Given the description of an element on the screen output the (x, y) to click on. 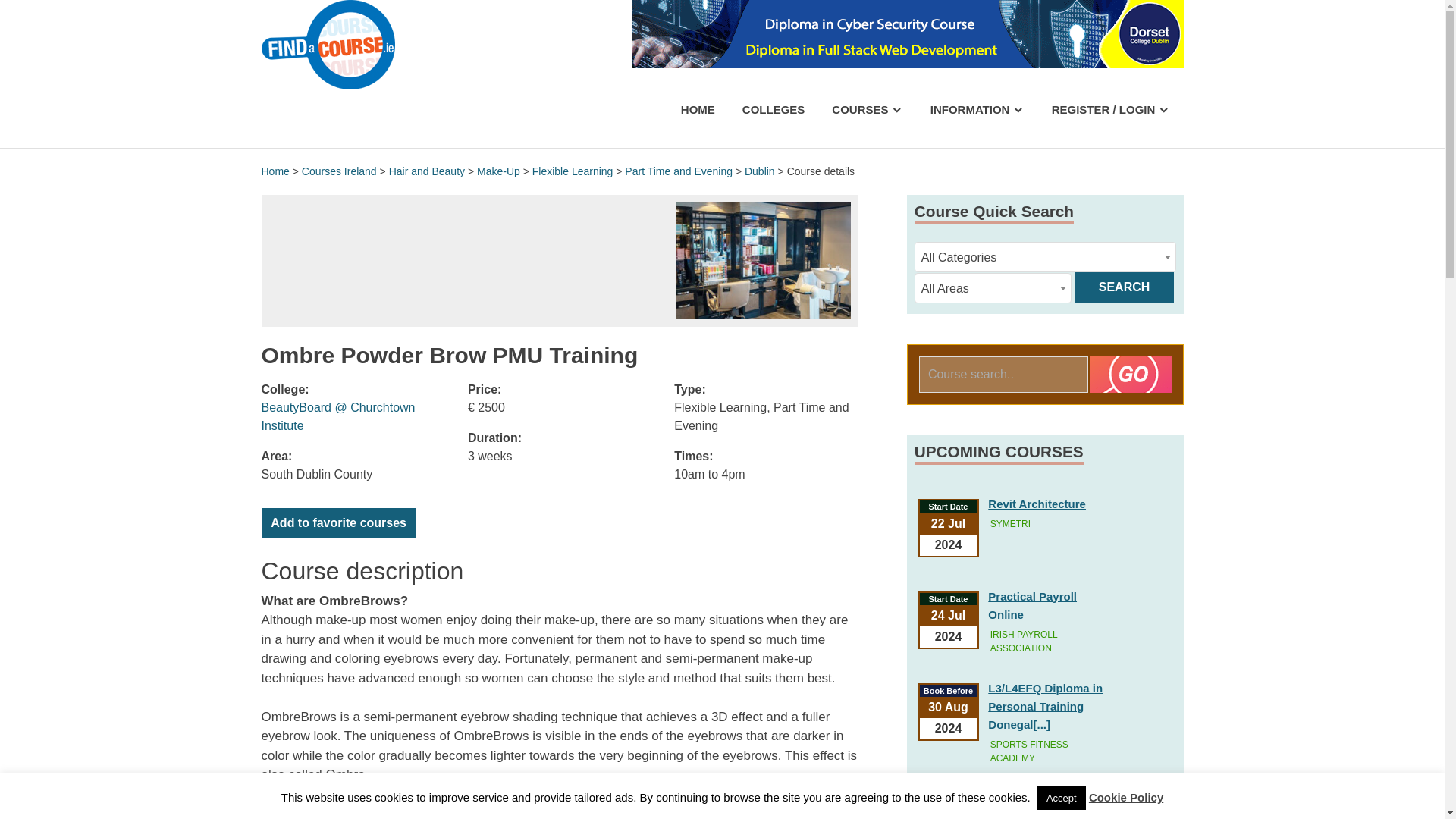
Courses Ireland (339, 171)
All Areas (992, 288)
Make-Up (498, 171)
Dublin (759, 171)
INFORMATION (977, 109)
COLLEGES (773, 109)
Add to favorite courses (337, 522)
HOME (697, 109)
Flexible Learning (572, 171)
Hair and Beauty (426, 171)
All Categories (1044, 257)
Part Time and Evening (678, 171)
COURSES (866, 109)
Home (274, 171)
SEARCH (1123, 286)
